Given the description of an element on the screen output the (x, y) to click on. 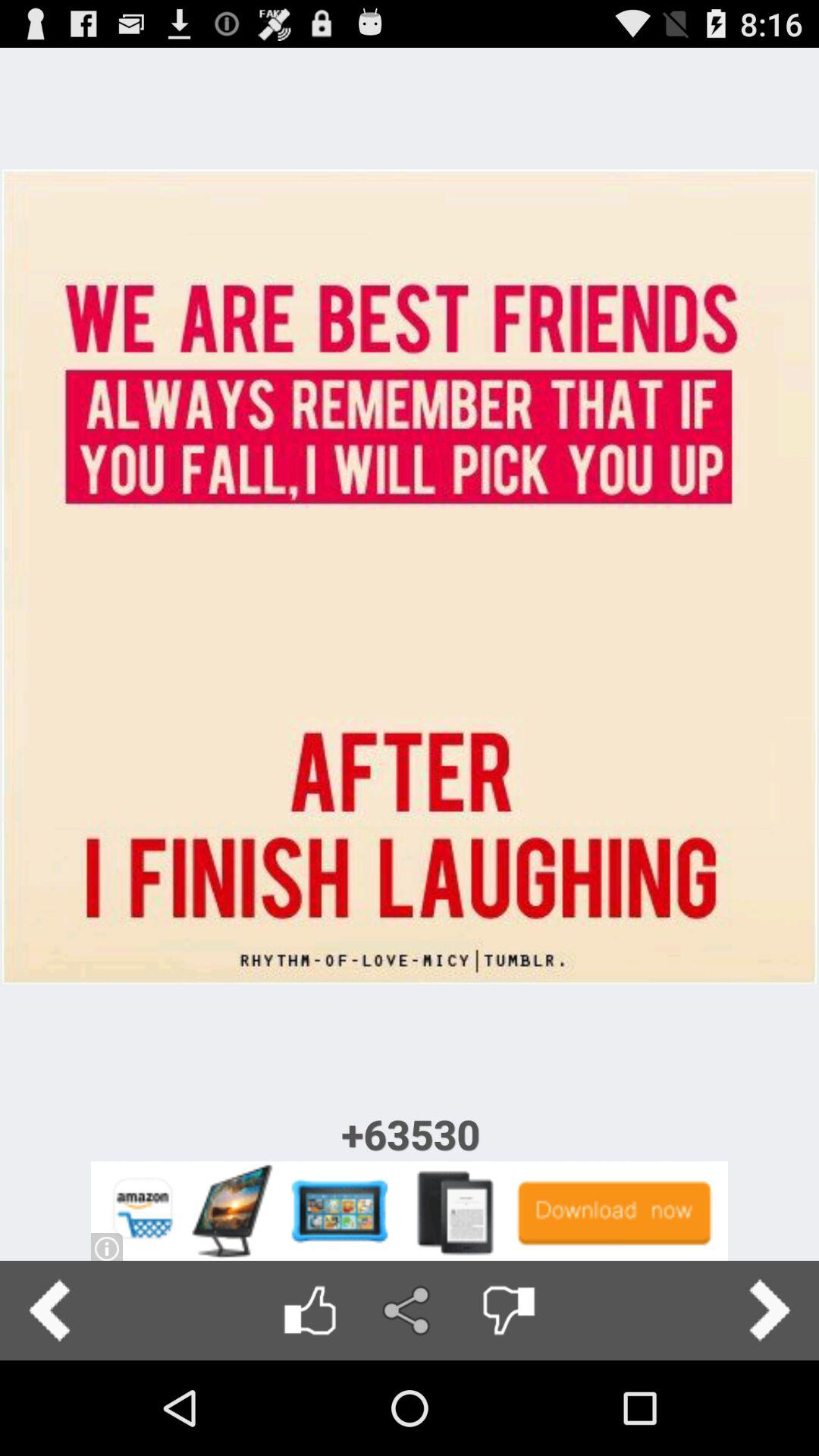
disslike button (508, 1310)
